Given the description of an element on the screen output the (x, y) to click on. 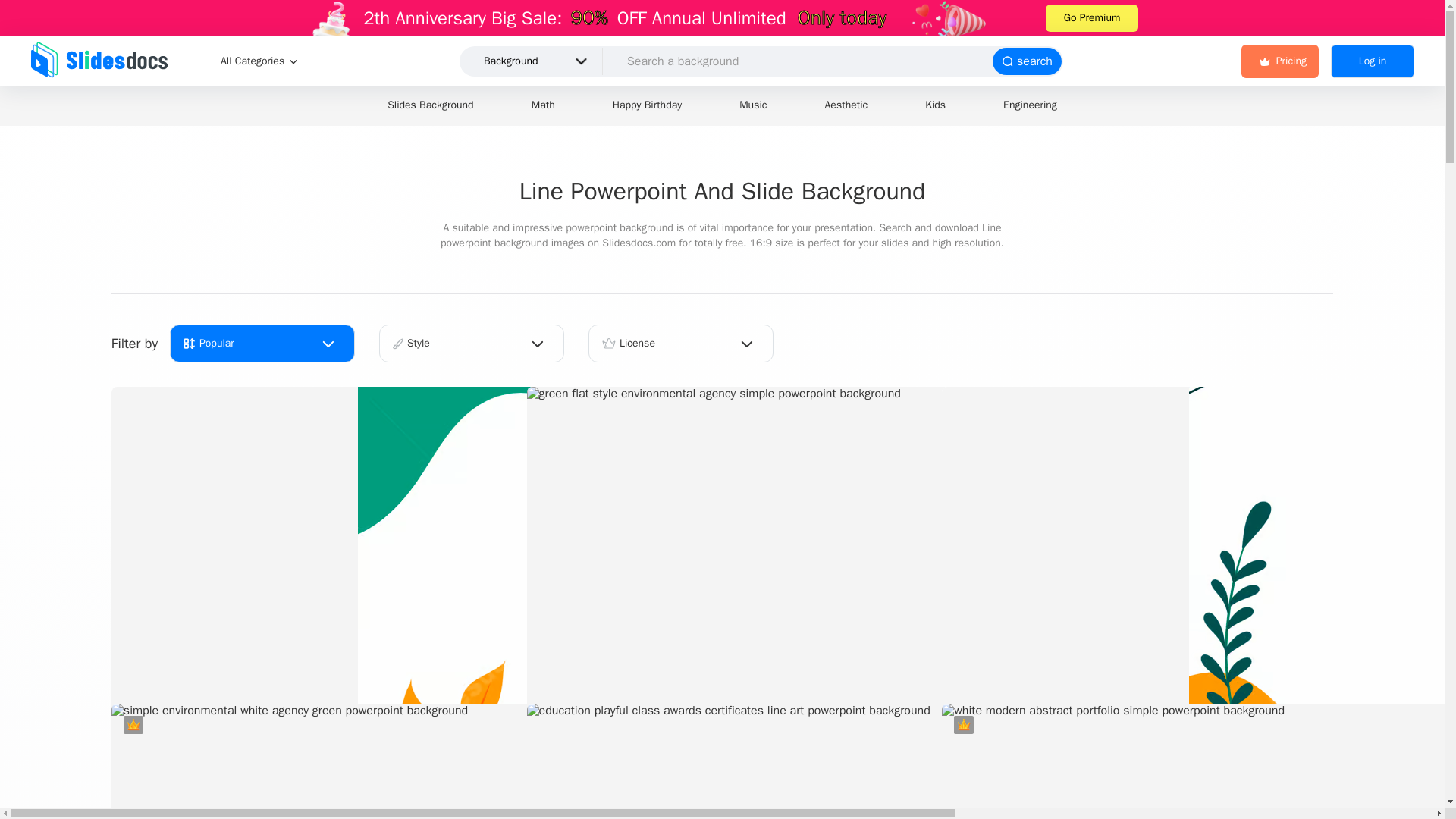
Slides Background (430, 106)
search (1026, 61)
Aesthetic (846, 106)
Math (542, 106)
All Categories (261, 61)
Music (752, 106)
Pricing (1280, 61)
Log in (1371, 61)
Engineering (1030, 106)
Happy Birthday (646, 106)
